Given the description of an element on the screen output the (x, y) to click on. 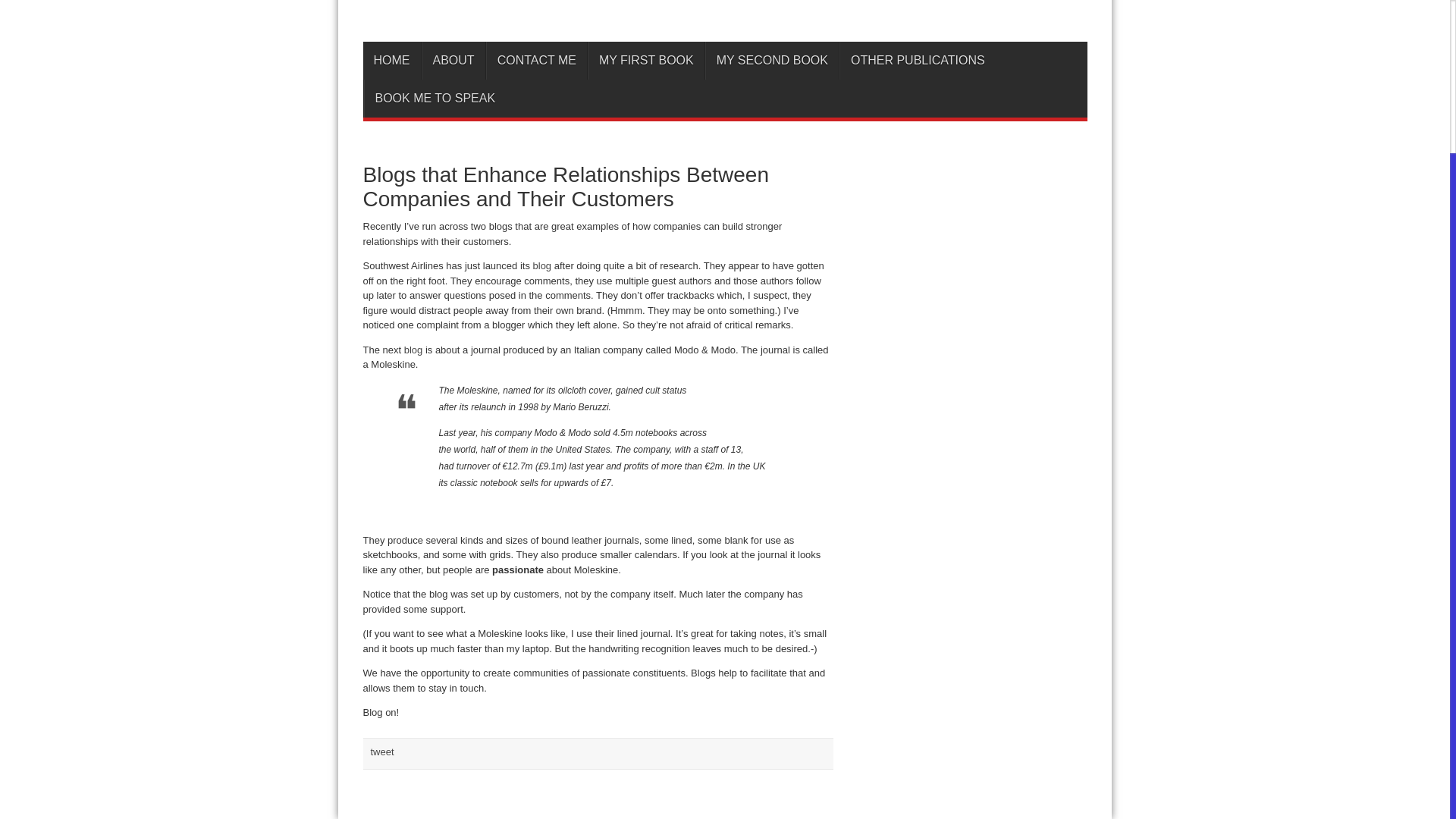
501derful.org (724, 11)
